Given the description of an element on the screen output the (x, y) to click on. 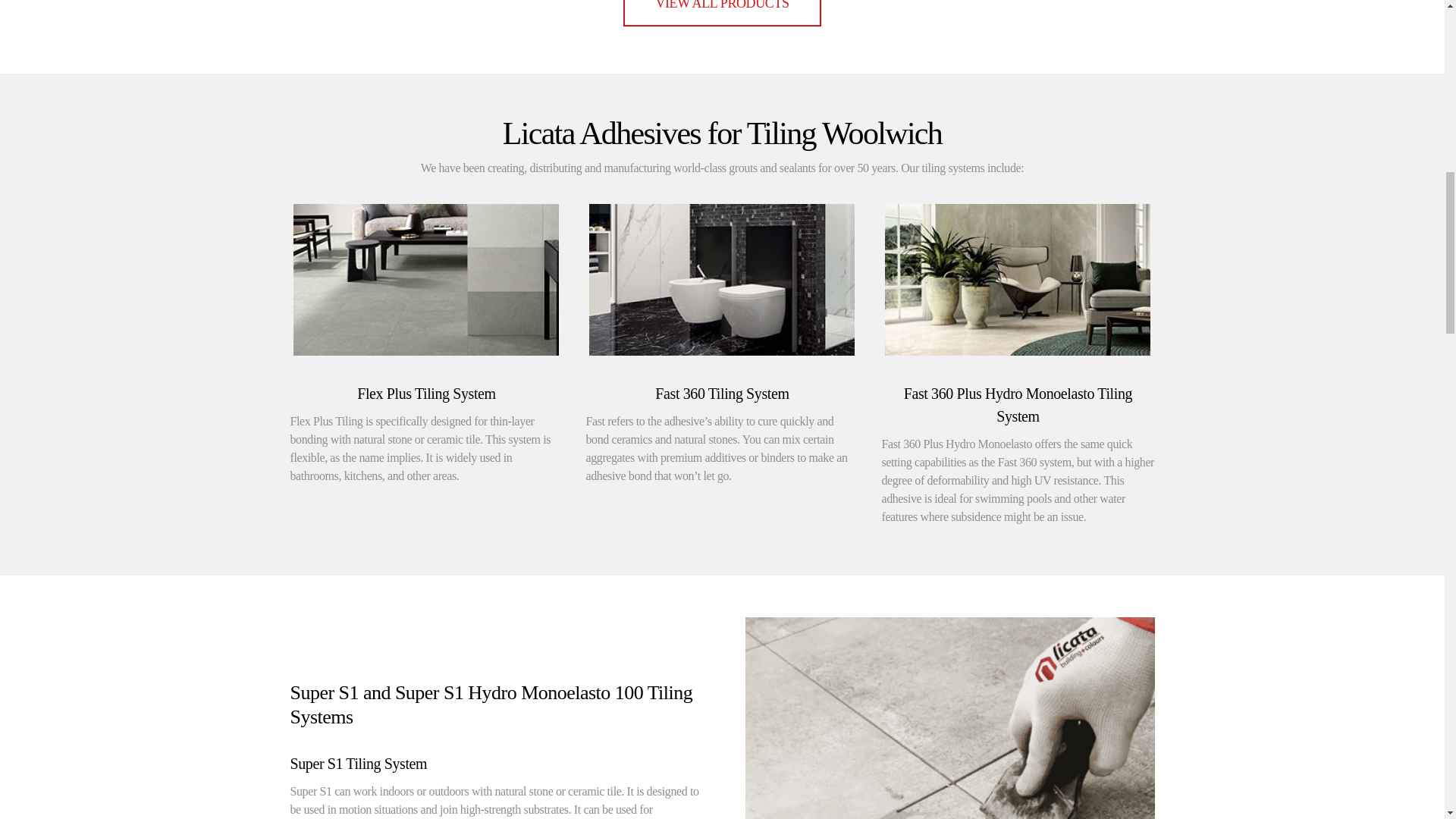
Products (722, 13)
